Given the description of an element on the screen output the (x, y) to click on. 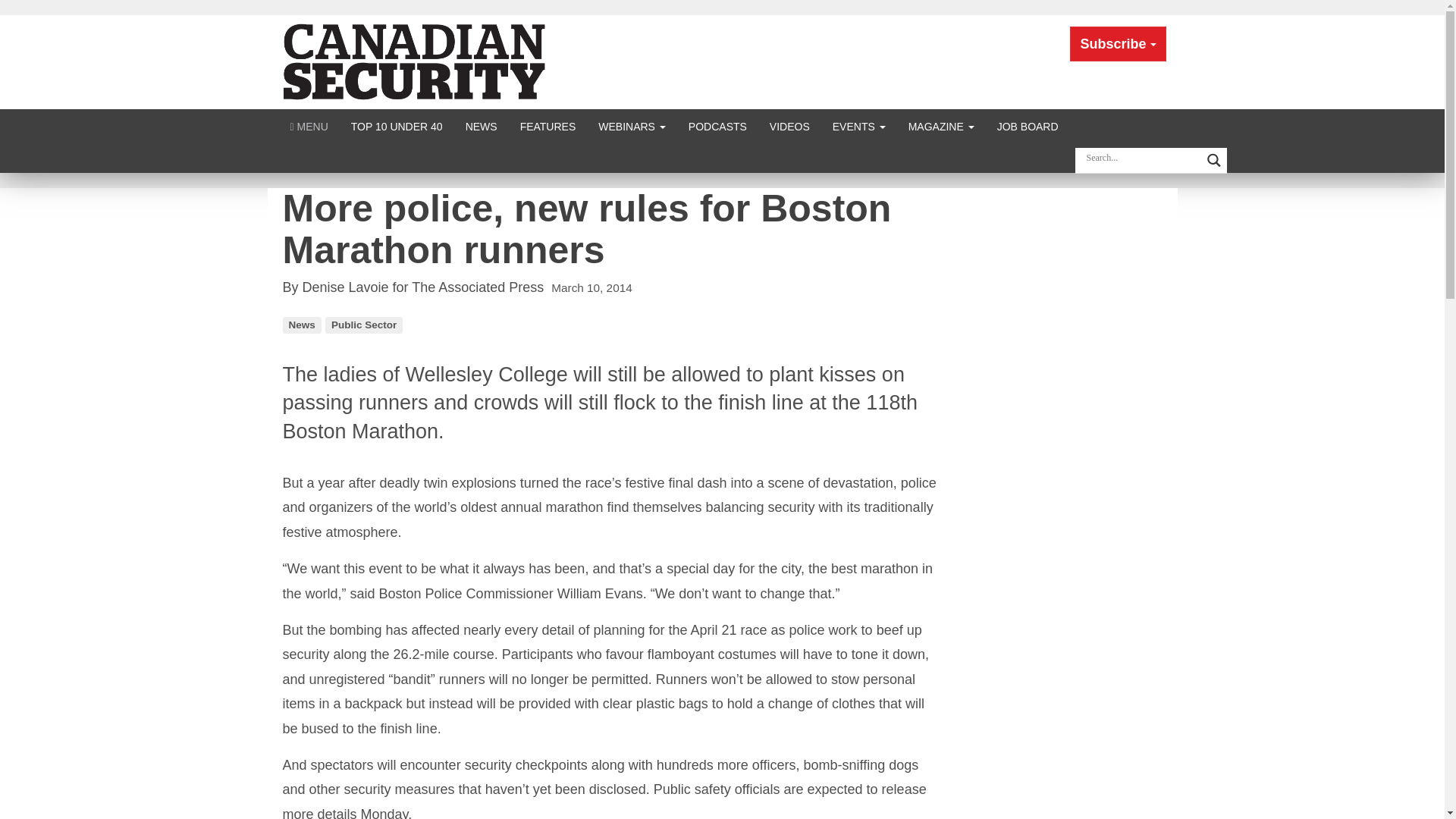
PODCASTS (717, 125)
TOP 10 UNDER 40 (396, 125)
FEATURES (548, 125)
MAGAZINE (940, 125)
WEBINARS (631, 125)
VIDEOS (789, 125)
EVENTS (858, 125)
Click to show site navigation (309, 125)
Canadian Security Magazine (415, 61)
JOB BOARD (1027, 125)
